Given the description of an element on the screen output the (x, y) to click on. 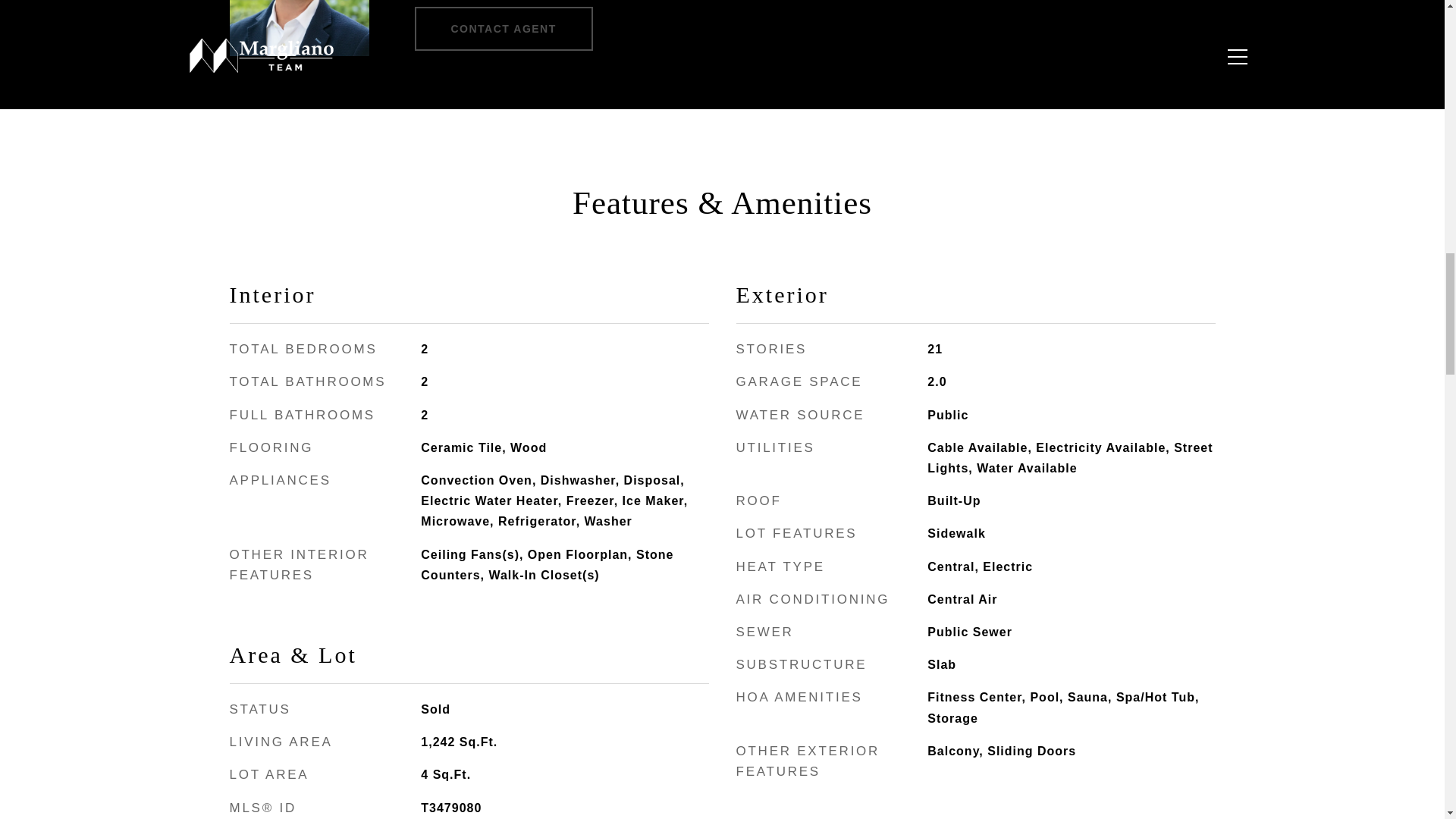
CONTACT AGENT (502, 28)
